Given the description of an element on the screen output the (x, y) to click on. 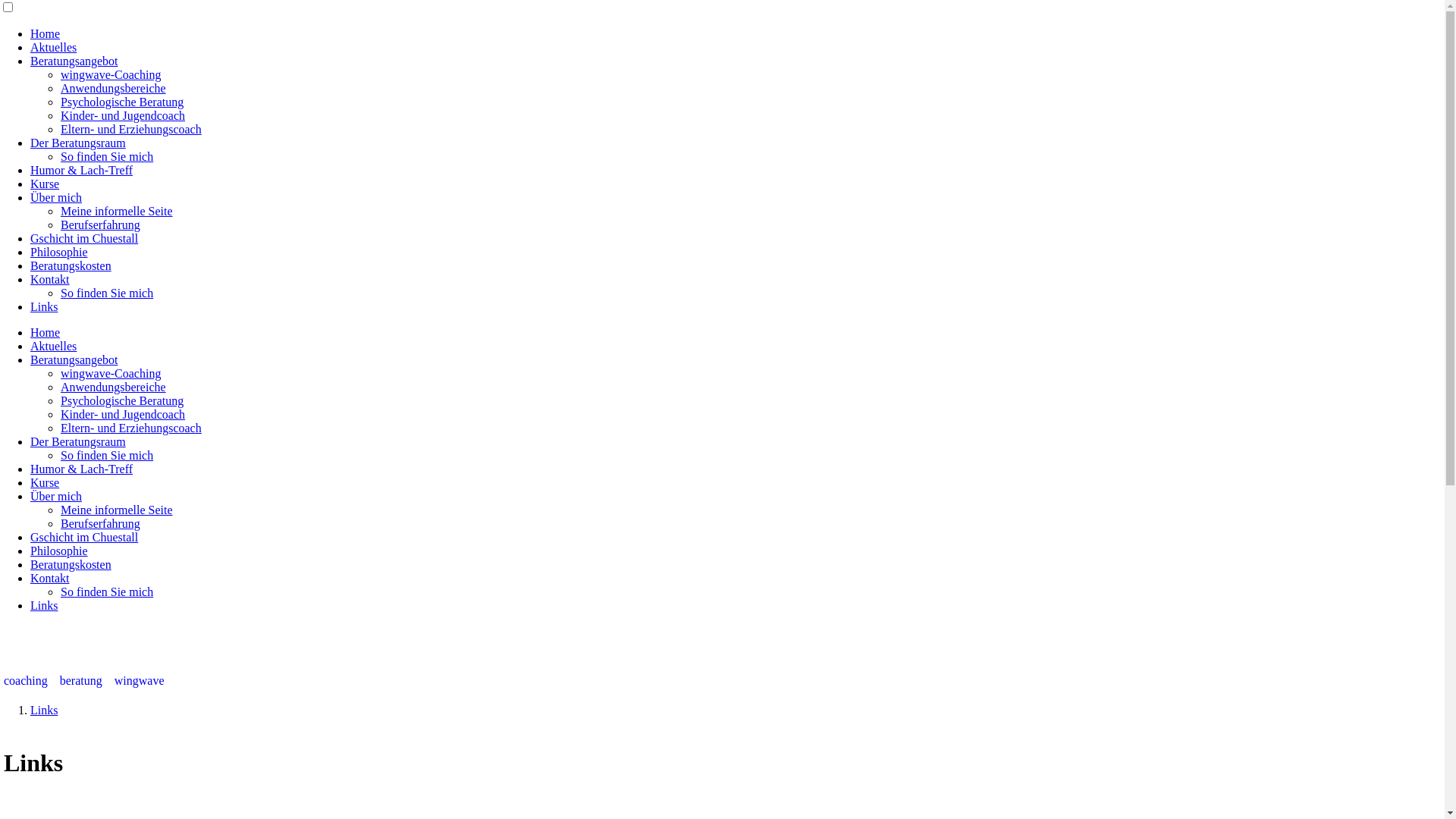
Eltern- und Erziehungscoach Element type: text (130, 427)
wingwave-Coaching Element type: text (110, 373)
Berufserfahrung Element type: text (100, 523)
Der Beratungsraum Element type: text (77, 441)
Aktuelles Element type: text (53, 345)
Philosophie Element type: text (58, 251)
So finden Sie mich Element type: text (106, 591)
Aktuelles Element type: text (53, 46)
Home Element type: text (44, 33)
Links Element type: text (43, 306)
Beratungskosten Element type: text (70, 564)
Kurse Element type: text (44, 482)
Kontakt Element type: text (49, 577)
Kinder- und Jugendcoach Element type: text (122, 413)
Meine informelle Seite Element type: text (116, 210)
coaching    beratung    wingwave Element type: text (83, 680)
Anwendungsbereiche Element type: text (113, 87)
Links Element type: text (43, 709)
Kontakt Element type: text (49, 279)
So finden Sie mich Element type: text (106, 156)
Links Element type: text (43, 605)
Eltern- und Erziehungscoach Element type: text (130, 128)
Berufserfahrung Element type: text (100, 224)
So finden Sie mich Element type: text (106, 454)
Home Element type: text (44, 332)
Gschicht im Chuestall Element type: text (84, 536)
Der Beratungsraum Element type: text (77, 142)
wingwave-Coaching Element type: text (110, 74)
Meine informelle Seite Element type: text (116, 509)
Beratungsangebot Element type: text (74, 60)
So finden Sie mich Element type: text (106, 292)
Beratungsangebot Element type: text (74, 359)
Philosophie Element type: text (58, 550)
Beratungskosten Element type: text (70, 265)
Anwendungsbereiche Element type: text (113, 386)
Kinder- und Jugendcoach Element type: text (122, 115)
Psychologische Beratung Element type: text (121, 101)
Humor & Lach-Treff Element type: text (81, 169)
Gschicht im Chuestall Element type: text (84, 238)
Humor & Lach-Treff Element type: text (81, 468)
Psychologische Beratung Element type: text (121, 400)
Kurse Element type: text (44, 183)
